Given the description of an element on the screen output the (x, y) to click on. 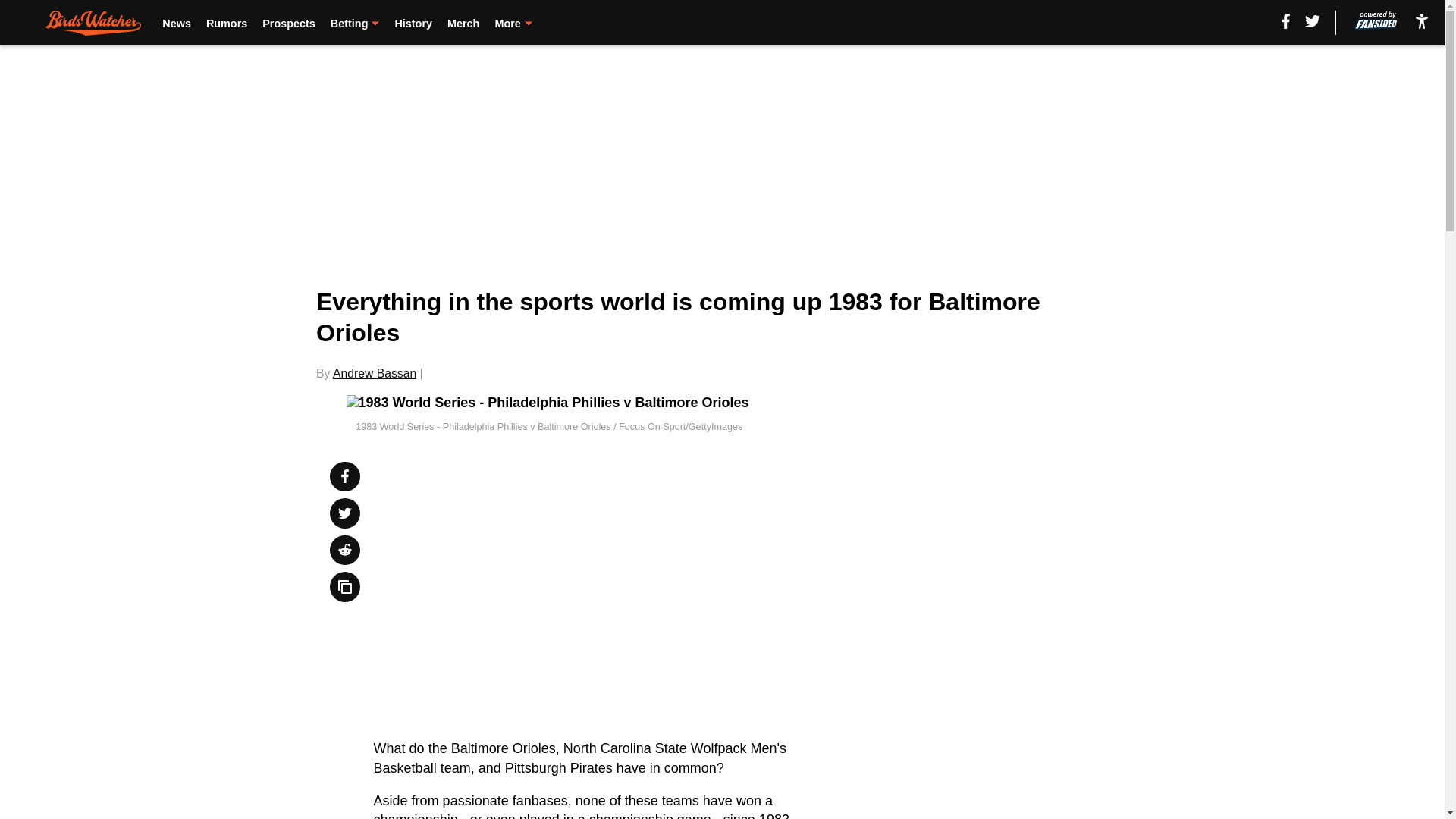
News (175, 23)
Merch (462, 23)
History (413, 23)
Andrew Bassan (374, 373)
Rumors (226, 23)
Prospects (288, 23)
